Given the description of an element on the screen output the (x, y) to click on. 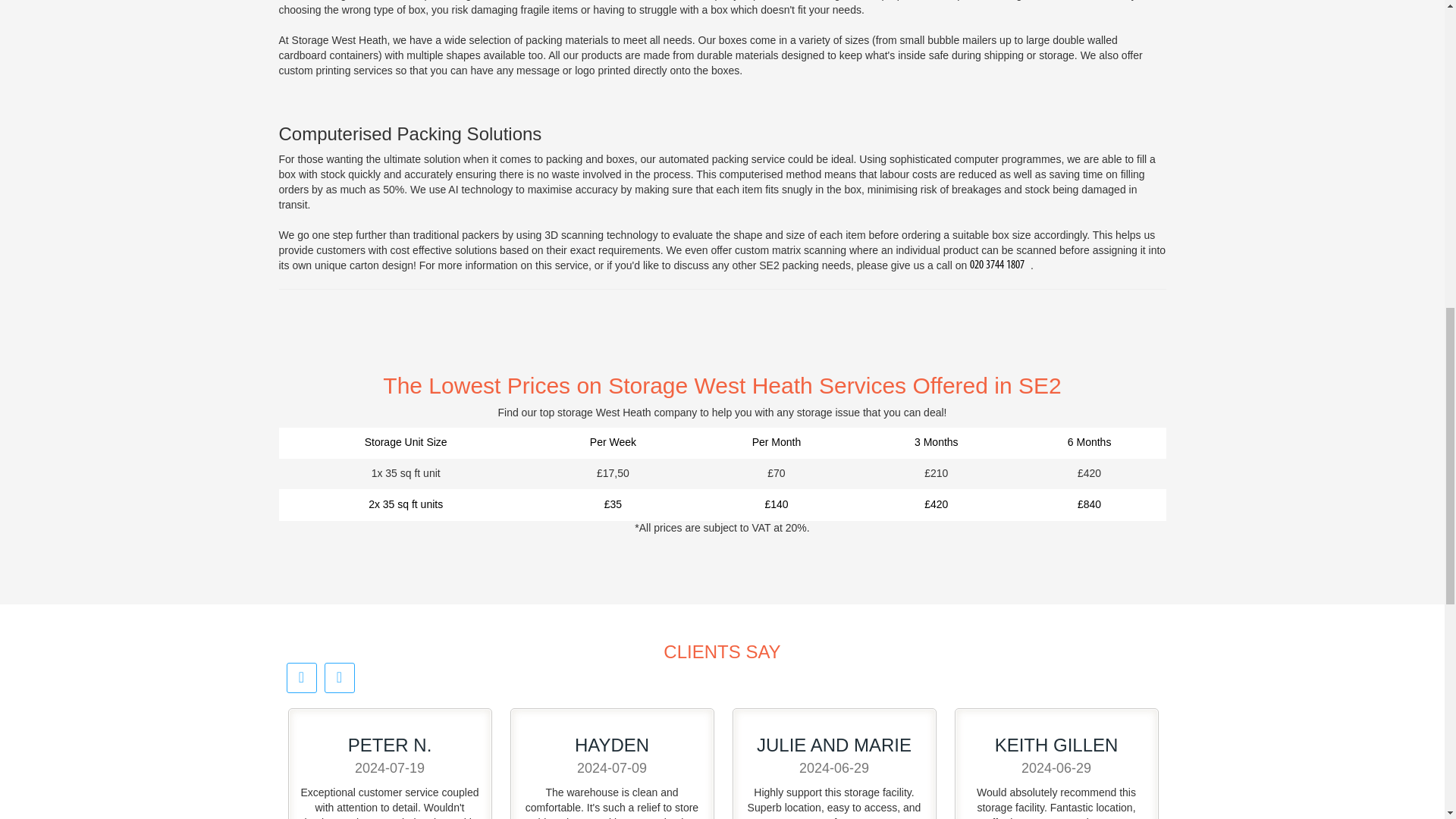
Call Now! (999, 265)
